Given the description of an element on the screen output the (x, y) to click on. 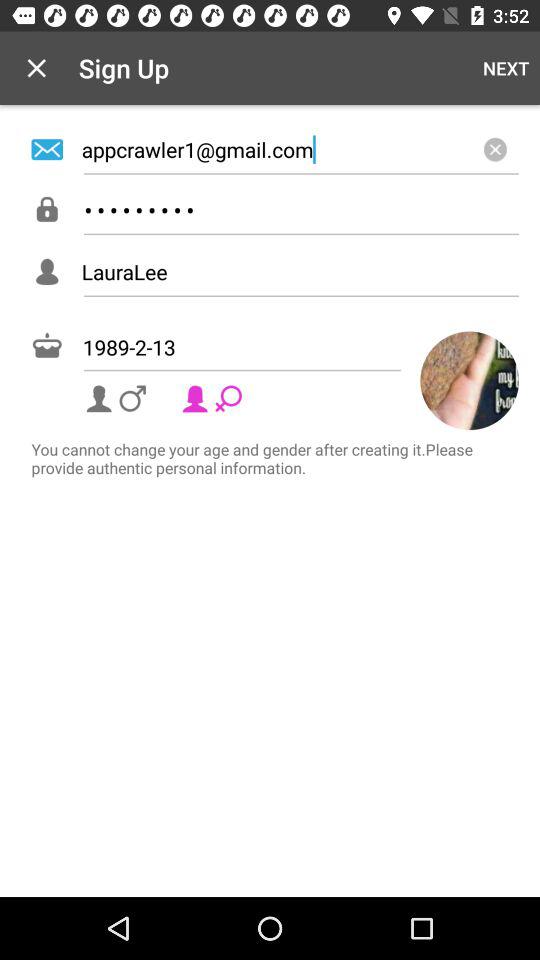
launch the app next to sign up app (36, 68)
